Given the description of an element on the screen output the (x, y) to click on. 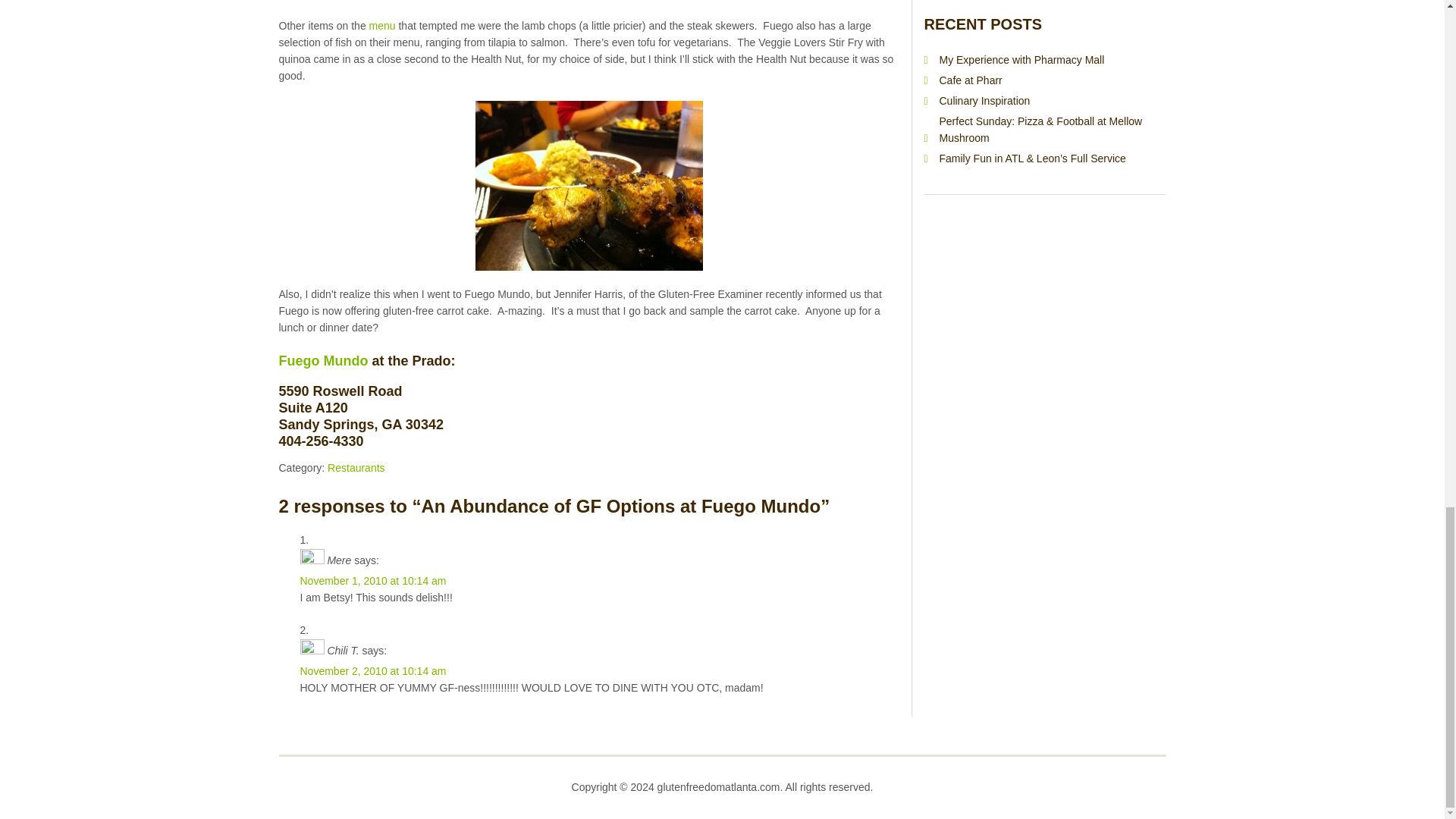
Restaurants (355, 467)
November 1, 2010 at 10:14 am (372, 580)
November 2, 2010 at 10:14 am (372, 671)
Fuego Mundo (323, 360)
menu (382, 25)
